Given the description of an element on the screen output the (x, y) to click on. 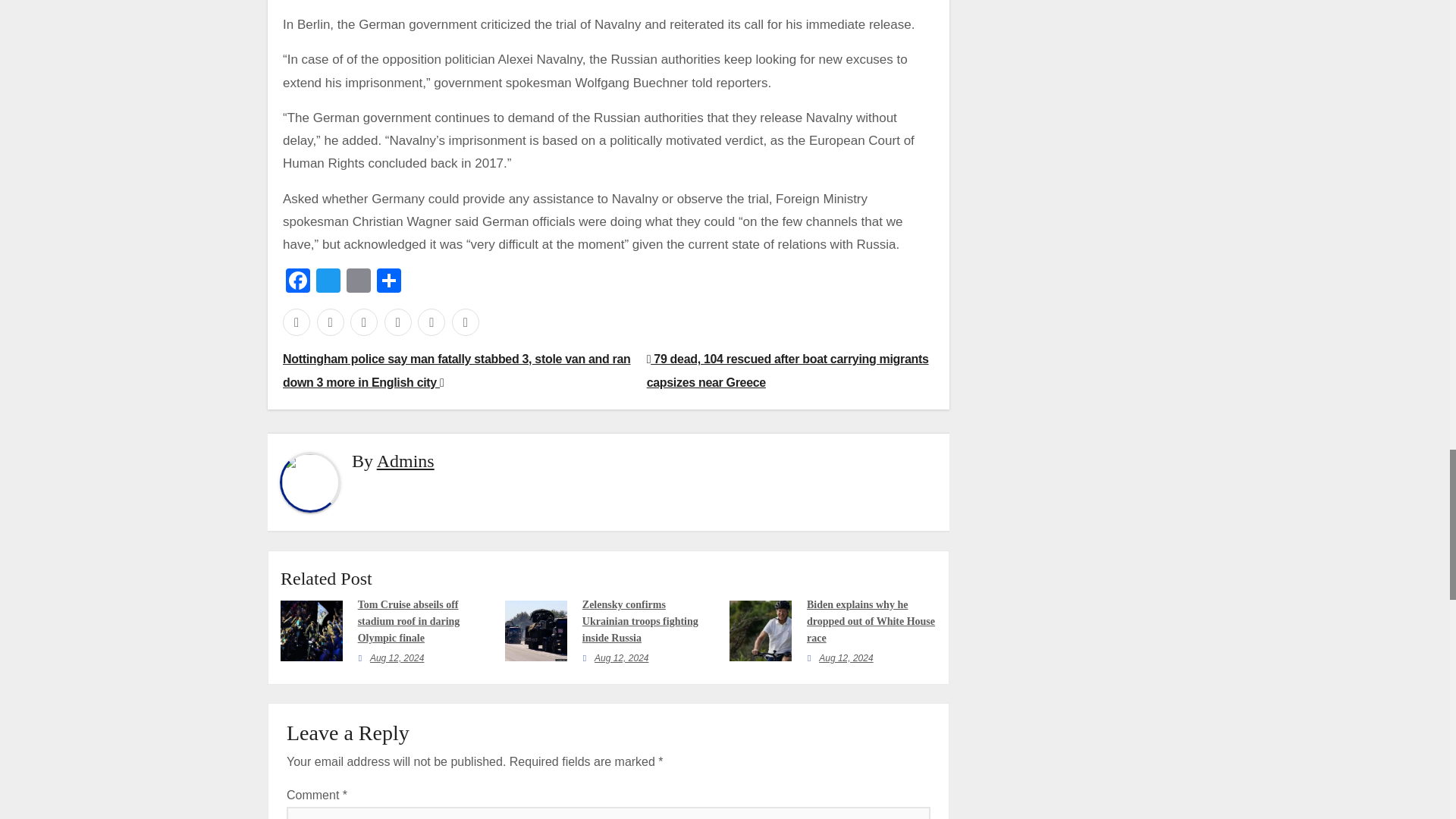
Email (358, 282)
Twitter (328, 282)
Facebook (297, 282)
